Given the description of an element on the screen output the (x, y) to click on. 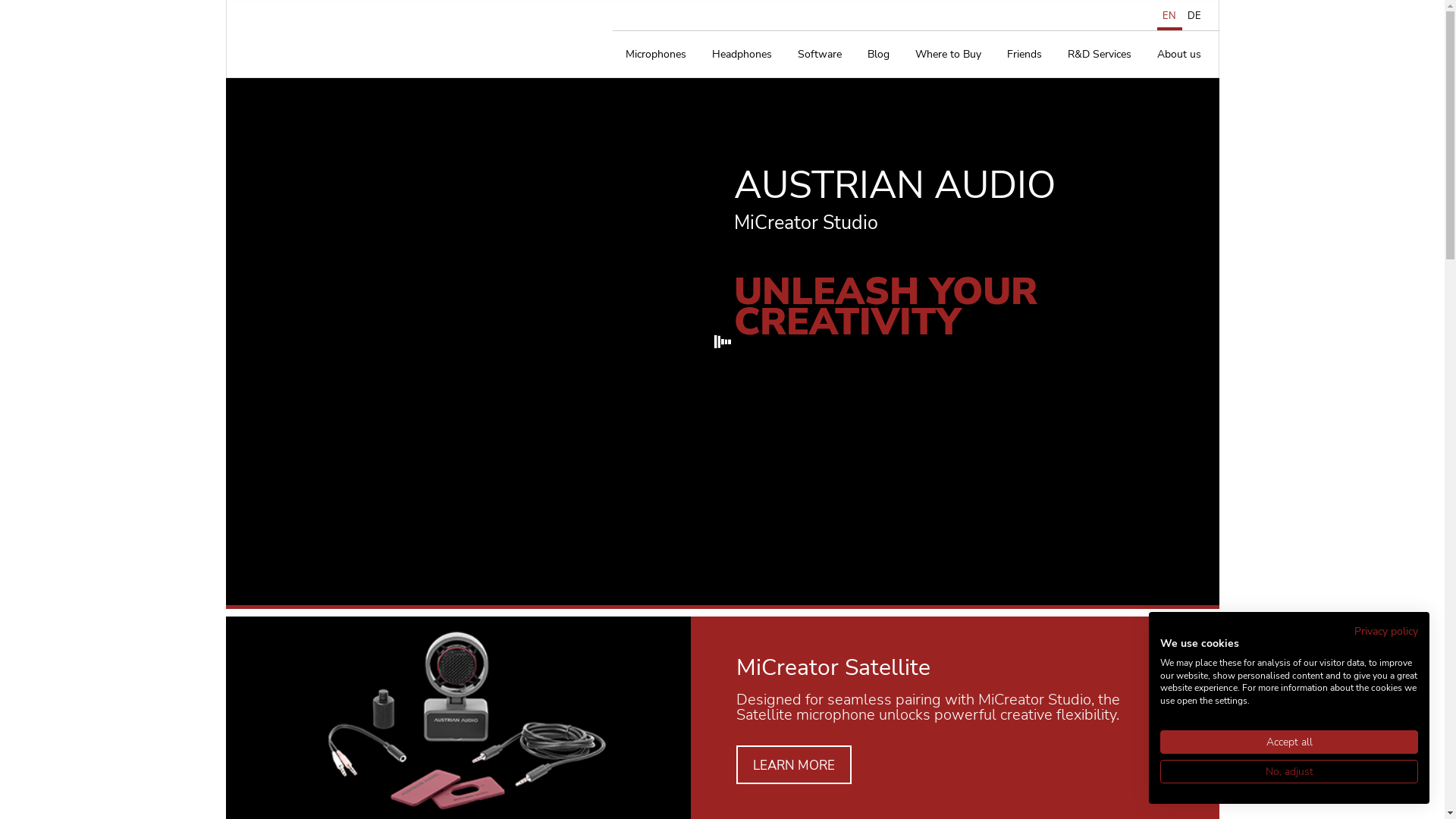
Where to Buy Element type: text (948, 54)
Headphones Element type: text (741, 54)
LEARN MORE Element type: text (792, 764)
Software Element type: text (818, 54)
Privacy policy Element type: text (1386, 631)
No, adjust Element type: text (1289, 771)
R&D Services Element type: text (1098, 54)
DE Element type: text (1193, 15)
About us Element type: text (1178, 54)
Blog Element type: text (877, 54)
Friends Element type: text (1023, 54)
Accept all Element type: text (1289, 741)
AUSTRIAN AUDIO
MiCreator Studio
UNLEASH YOUR CREATIVITY Element type: text (722, 341)
EN Element type: text (1169, 15)
Microphones Element type: text (655, 54)
